Given the description of an element on the screen output the (x, y) to click on. 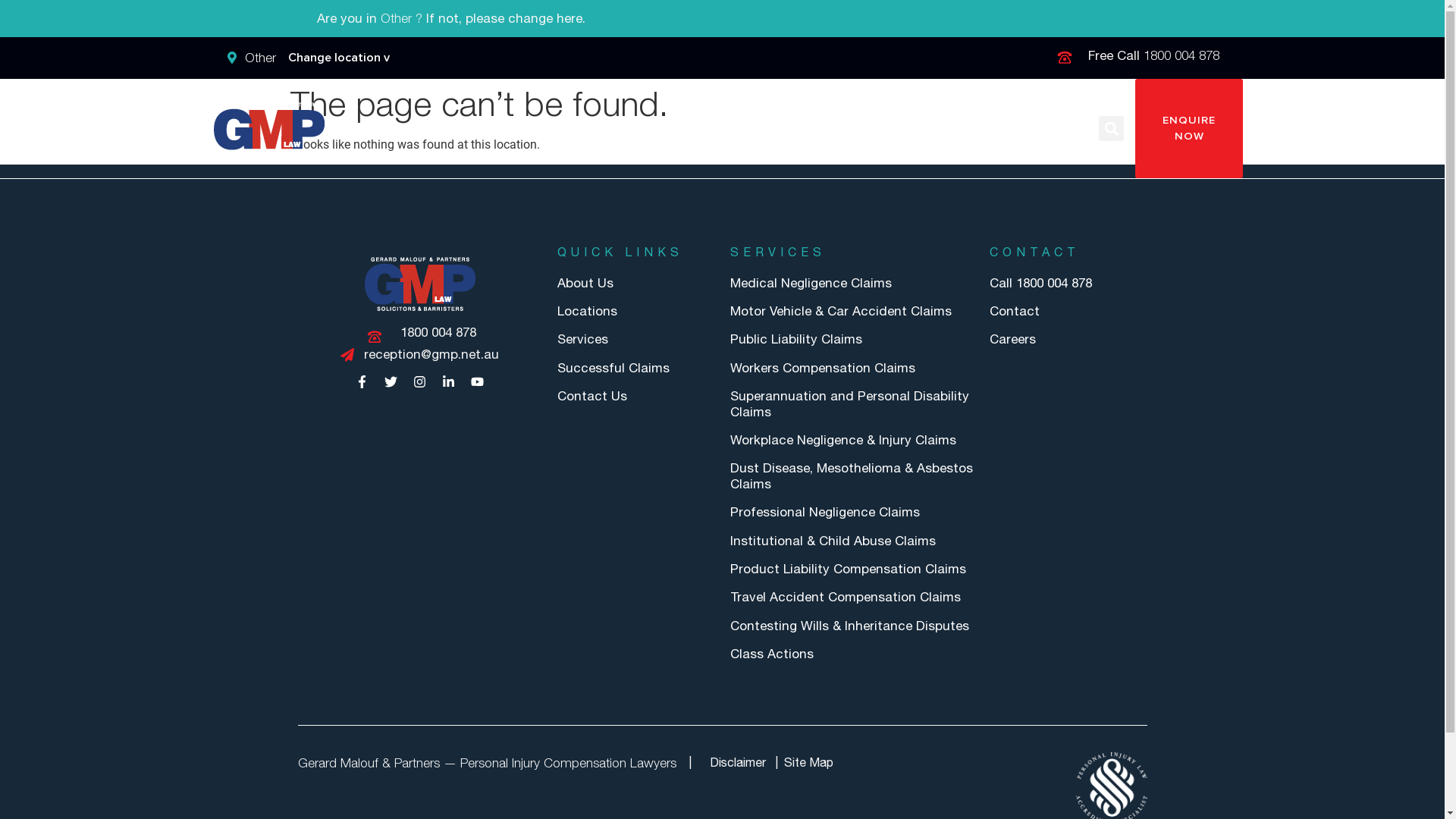
Contact Element type: text (1061, 128)
Locations Element type: text (635, 310)
1800 004 878 Element type: text (419, 332)
reception@gmp.net.au Element type: text (419, 354)
Contact Element type: text (1067, 310)
Services Element type: text (651, 128)
Services Element type: text (635, 338)
Medical Negligence Claims Element type: text (851, 282)
Disclaimer Element type: text (737, 762)
Site Map Element type: text (808, 762)
Superannuation and Personal Disability Claims Element type: text (851, 403)
Motor Vehicle & Car Accident Claims Element type: text (851, 310)
Locations Element type: text (811, 128)
Institutional & Child Abuse Claims Element type: text (851, 540)
Workers Compensation Claims Element type: text (851, 367)
Free Guide Element type: text (569, 128)
Class Actions Element type: text (468, 128)
Contesting Wills & Inheritance Disputes Element type: text (851, 625)
Call 1800 004 878 Element type: text (1067, 282)
Travel Accident Compensation Claims Element type: text (851, 596)
Public Liability Claims Element type: text (851, 338)
About Us Element type: text (729, 128)
Successful Claims Element type: text (635, 367)
Contact Us Element type: text (635, 395)
ENQUIRE
NOW Element type: text (1188, 128)
Our Team Element type: text (895, 128)
Resources Element type: text (981, 128)
Free Call 1800 004 878 Element type: text (1137, 55)
About Us Element type: text (635, 282)
Product Liability Compensation Claims Element type: text (851, 568)
Class Actions Element type: text (851, 653)
Careers Element type: text (1067, 338)
Professional Negligence Claims Element type: text (851, 511)
Workplace Negligence & Injury Claims Element type: text (851, 439)
Dust Disease, Mesothelioma & Asbestos Claims Element type: text (851, 475)
